Given the description of an element on the screen output the (x, y) to click on. 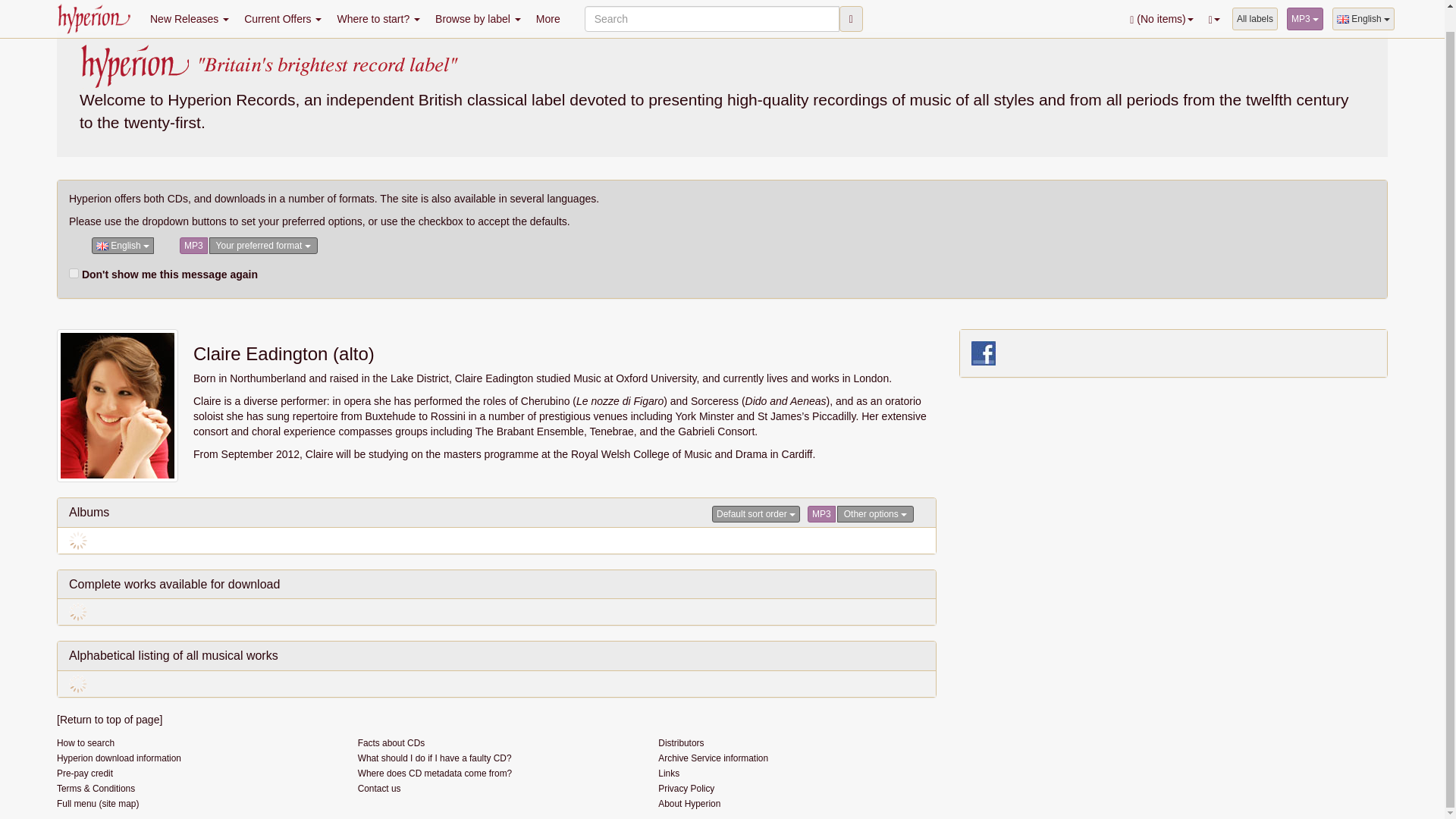
Browse by label (478, 8)
on (73, 273)
New Releases (188, 8)
Current Offers (282, 8)
More (547, 8)
Where to start? (378, 8)
